Given the description of an element on the screen output the (x, y) to click on. 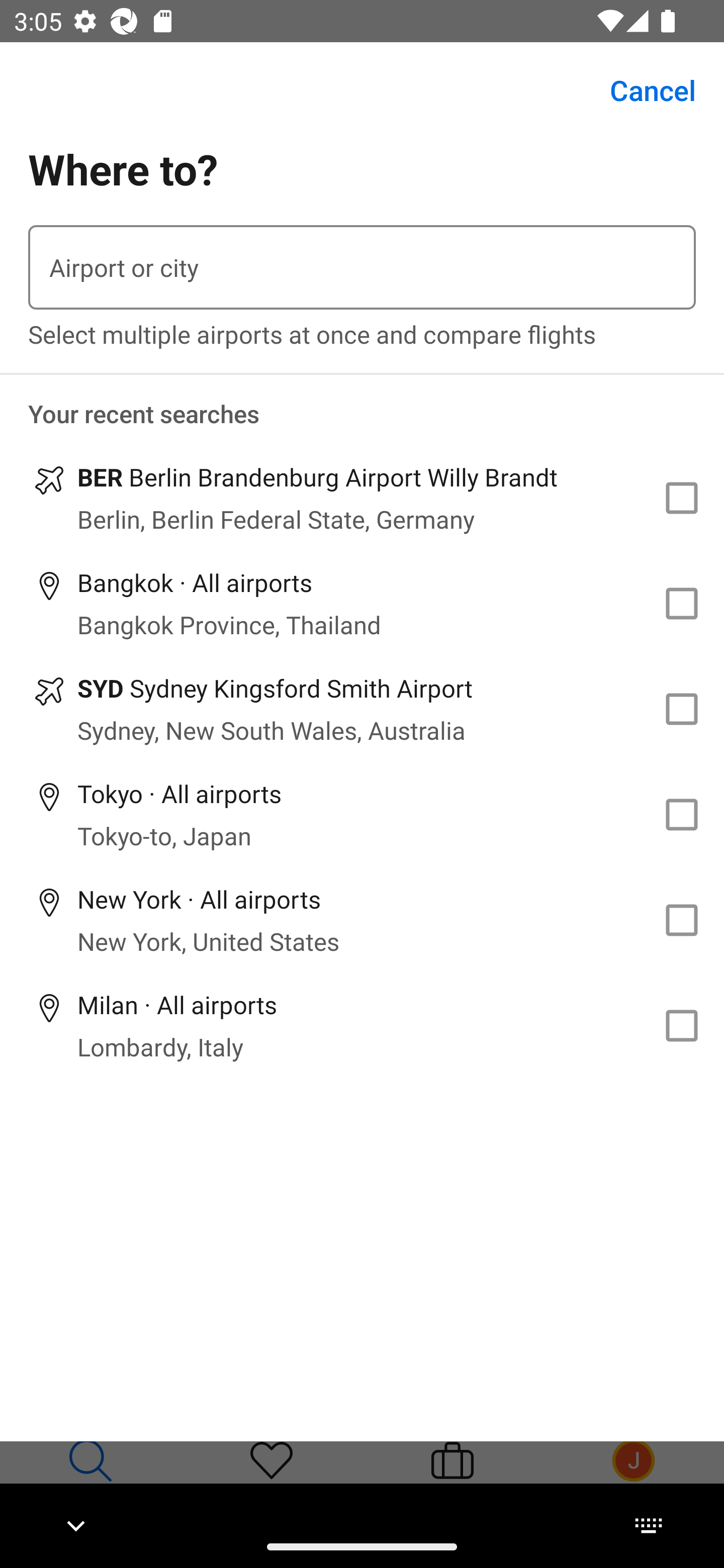
Cancel (641, 90)
Airport or city (361, 266)
Bangkok · All airports Bangkok Province, Thailand (362, 603)
Tokyo · All airports Tokyo-to, Japan (362, 814)
New York · All airports New York, United States (362, 920)
Milan · All airports Lombardy, Italy (362, 1025)
